Given the description of an element on the screen output the (x, y) to click on. 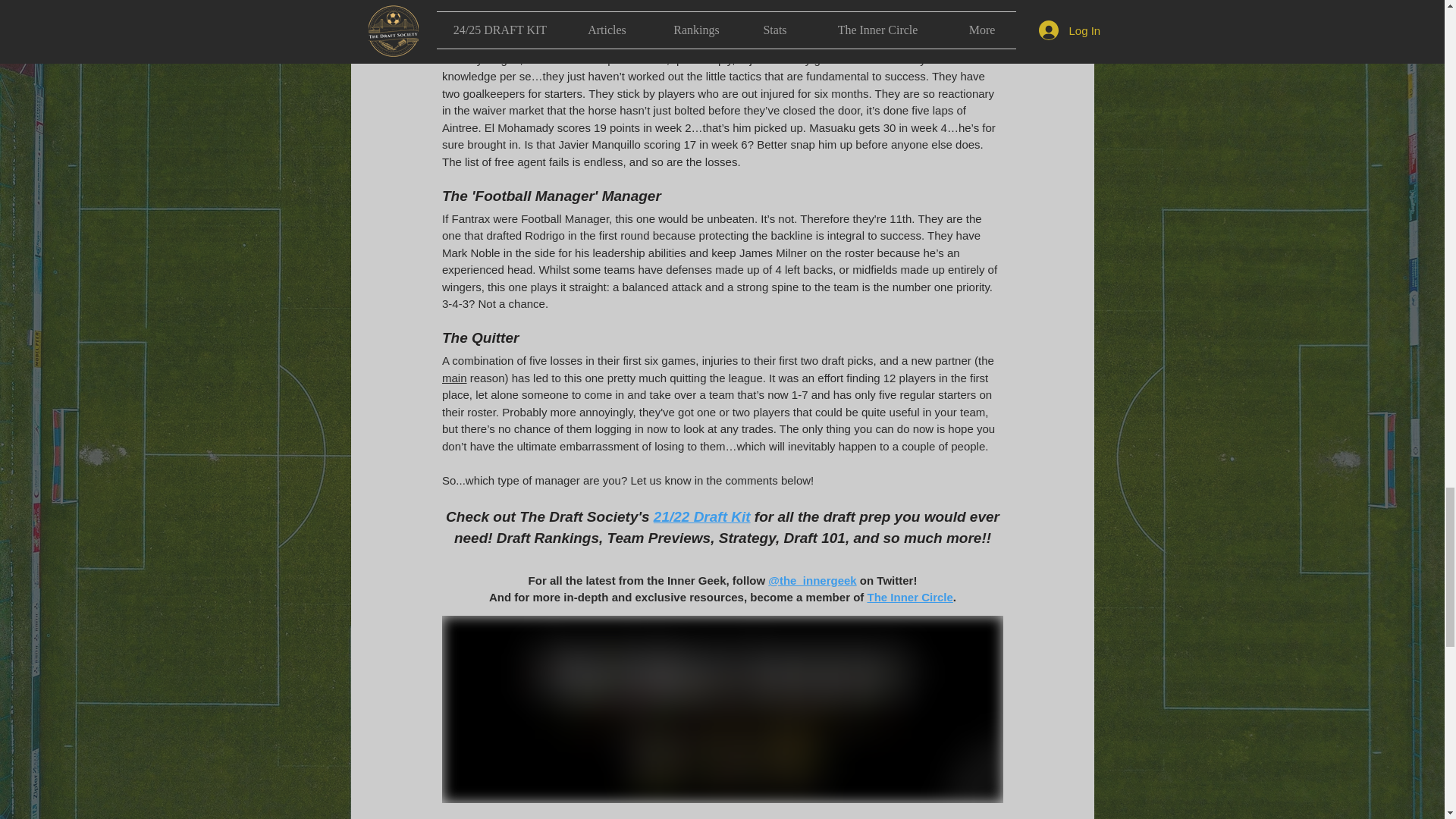
The Inner Circle (909, 596)
